Given the description of an element on the screen output the (x, y) to click on. 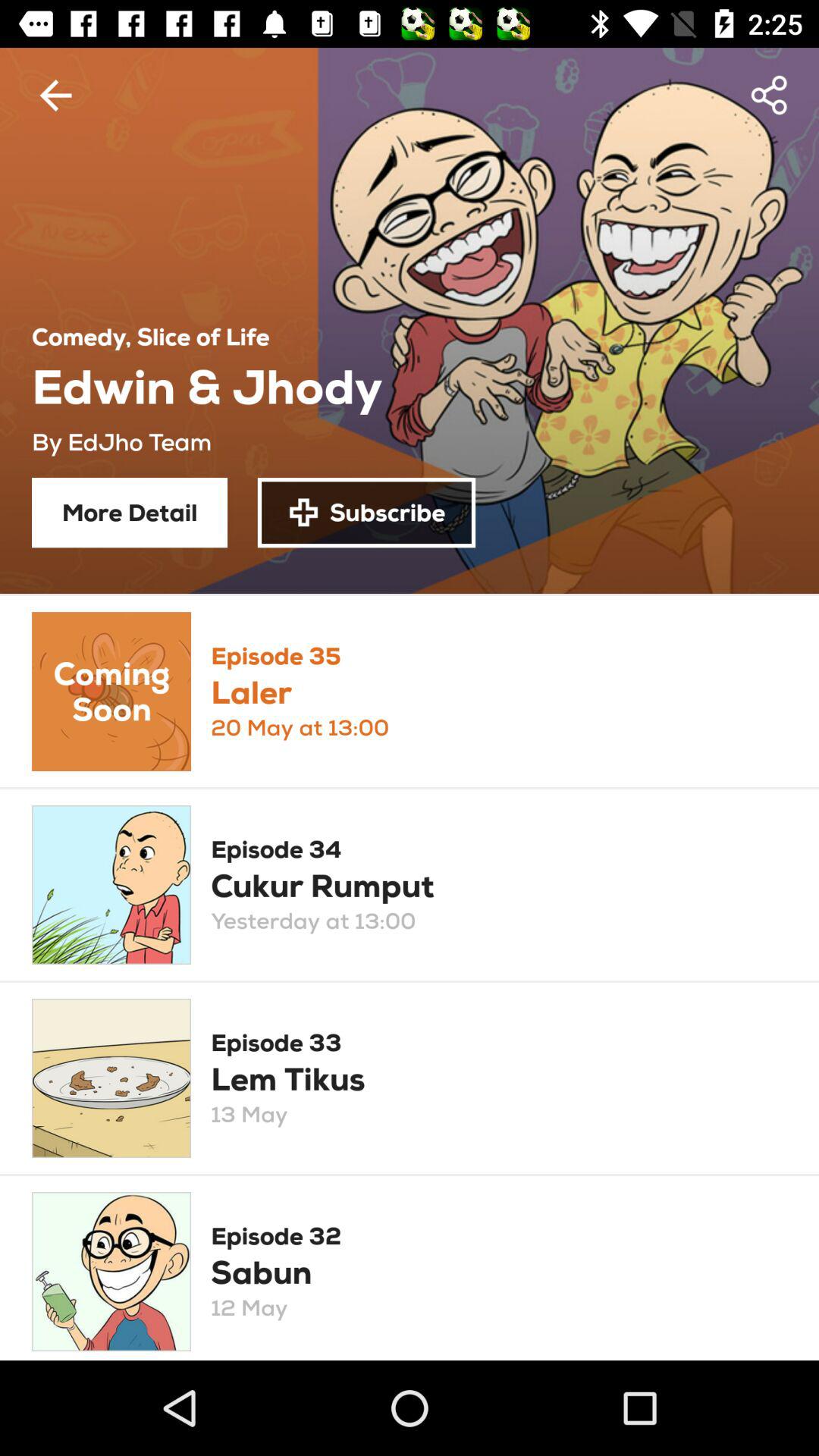
turn on item above comedy slice of item (55, 95)
